Given the description of an element on the screen output the (x, y) to click on. 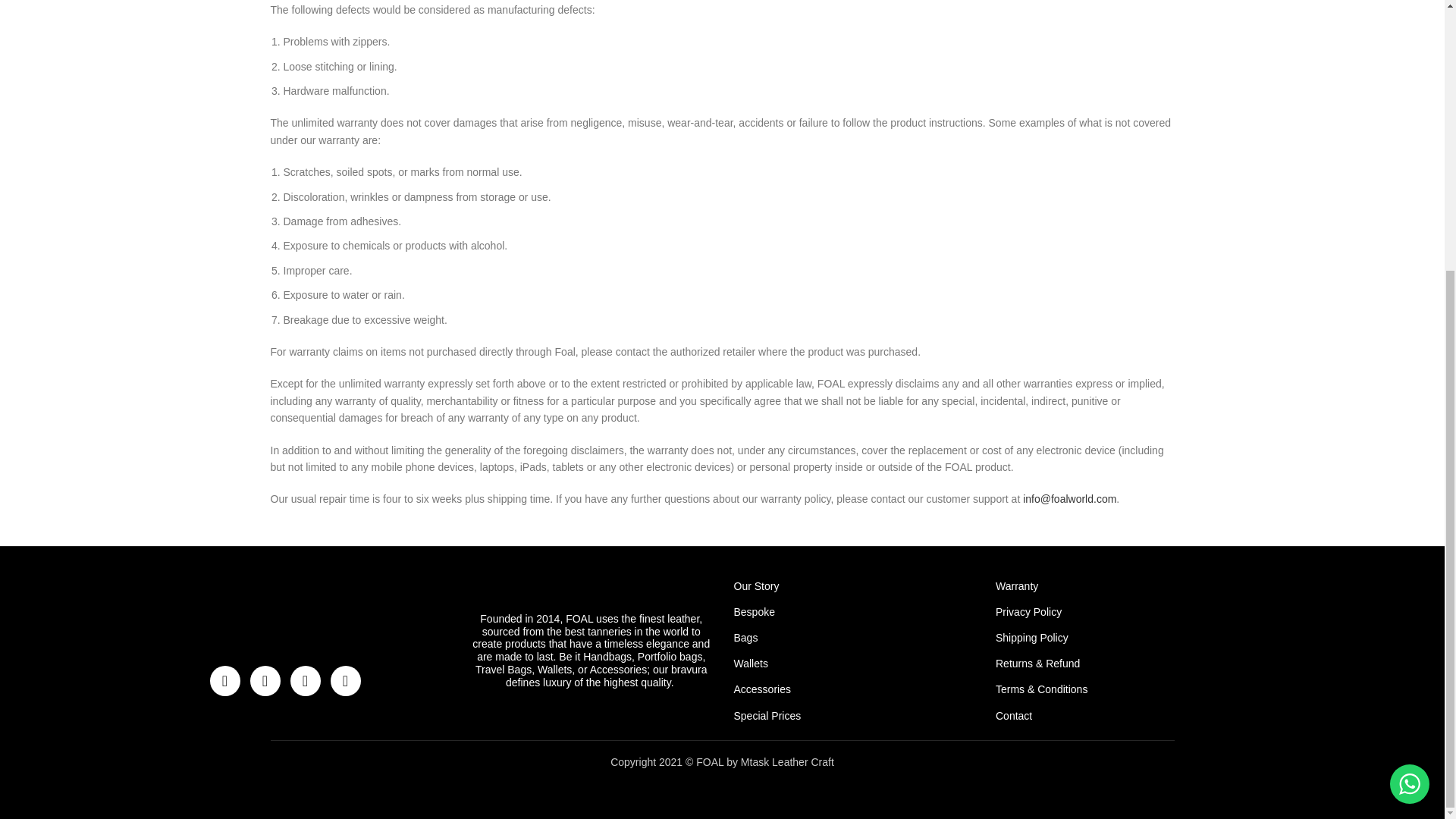
Contact (1114, 715)
Bags (853, 637)
Get in touch (1409, 387)
Special Prices (853, 715)
Accessories (853, 688)
Bespoke (853, 611)
Our Story (853, 585)
Warranty (1114, 585)
Privacy Policy (1114, 611)
Wallets (853, 663)
Shipping Policy (1114, 637)
